Given the description of an element on the screen output the (x, y) to click on. 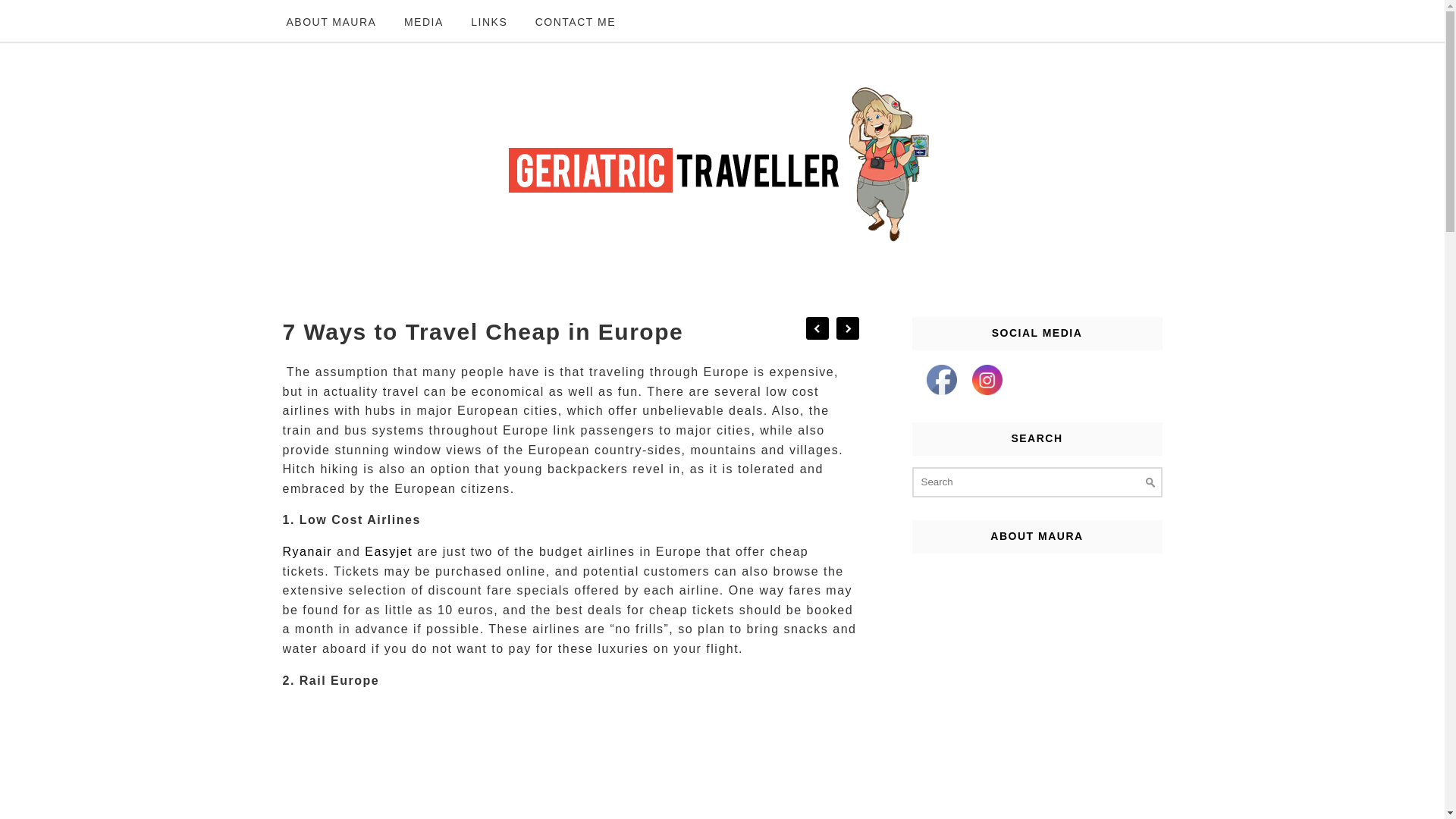
MEDIA (423, 22)
LINKS (489, 22)
Facebook (941, 379)
Instagram (987, 379)
Ryanair (306, 551)
Easyjet (388, 551)
ABOUT MAURA (331, 22)
CONTACT ME (575, 22)
